Given the description of an element on the screen output the (x, y) to click on. 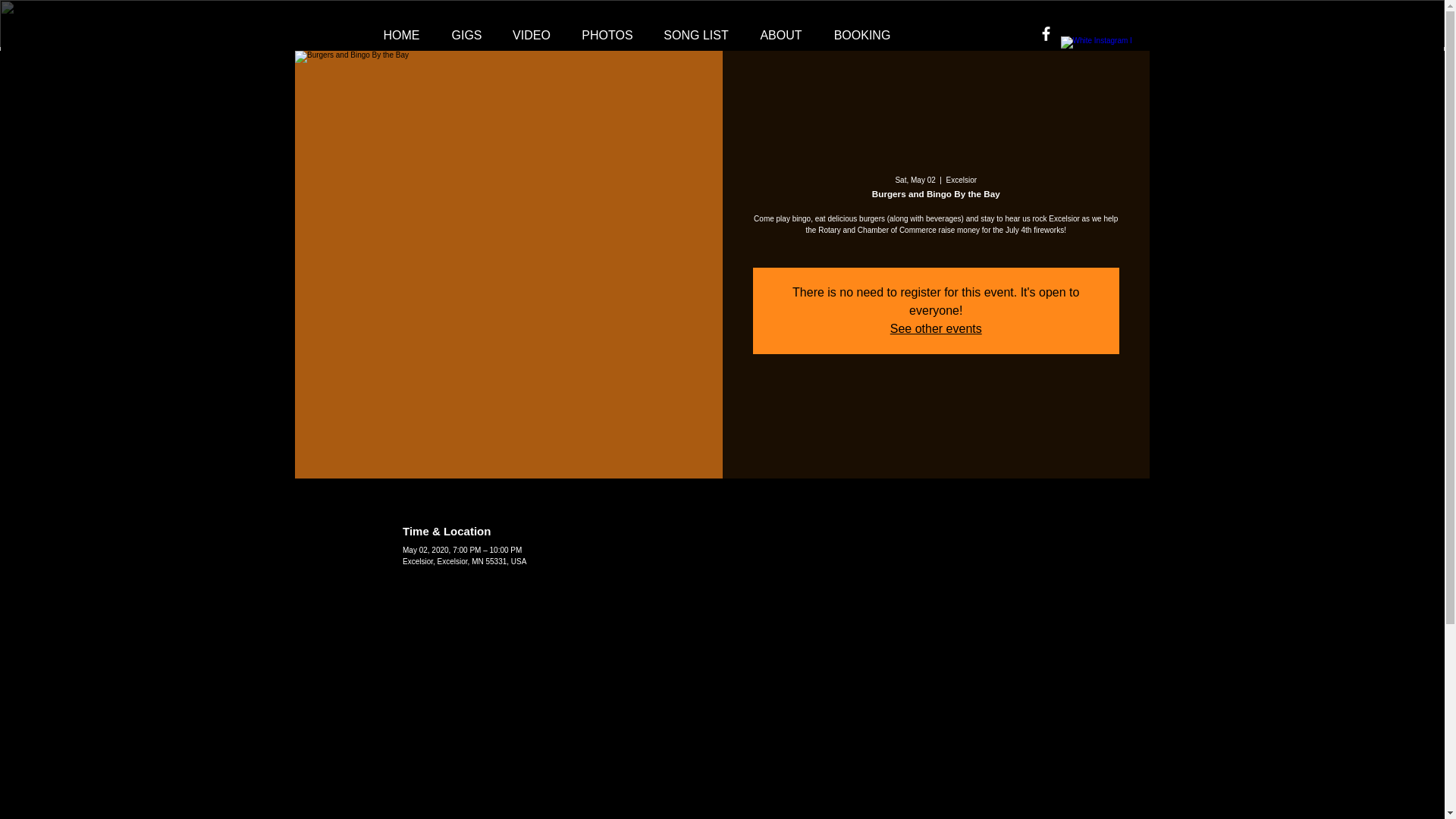
PHOTOS (606, 35)
SONG LIST (696, 35)
ABOUT (780, 35)
VIDEO (531, 35)
BOOKING (861, 35)
See other events (935, 328)
GIGS (466, 35)
HOME (401, 35)
